Given the description of an element on the screen output the (x, y) to click on. 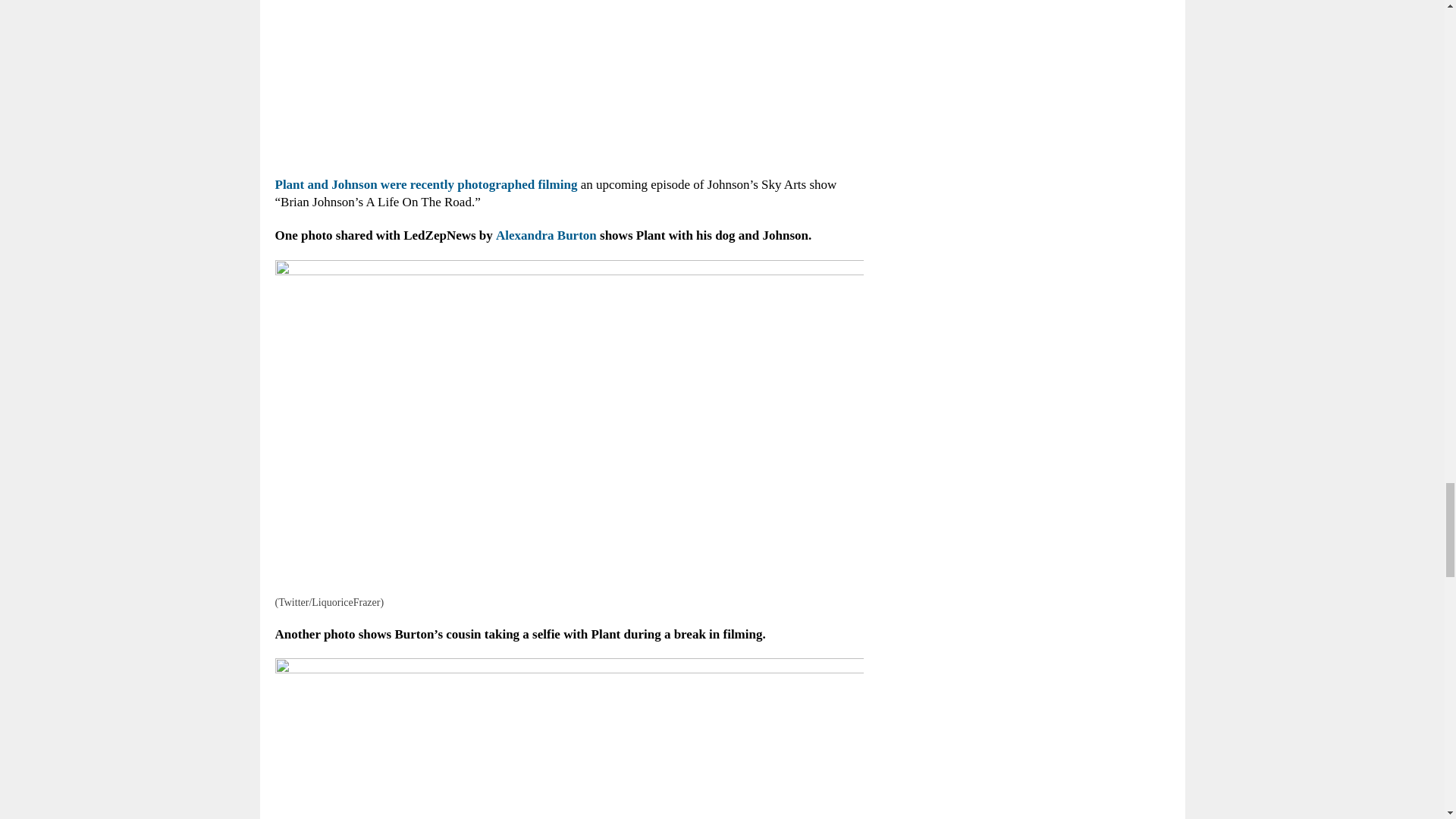
Plant and Johnson were recently photographed filming (425, 184)
Alexandra Burton (546, 235)
